Given the description of an element on the screen output the (x, y) to click on. 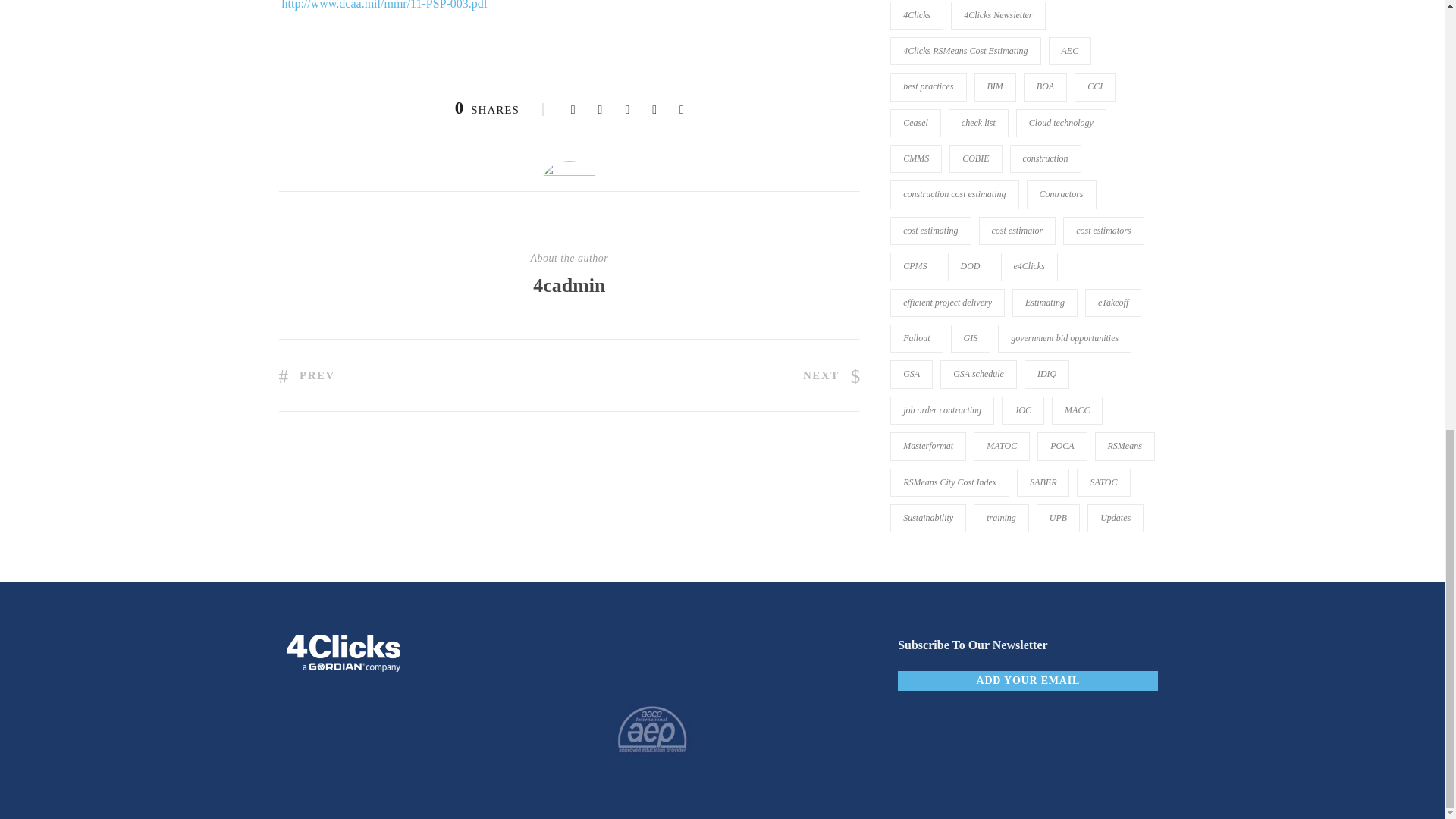
Add Your Email (1027, 680)
Posts by 4cadmin (568, 285)
